Given the description of an element on the screen output the (x, y) to click on. 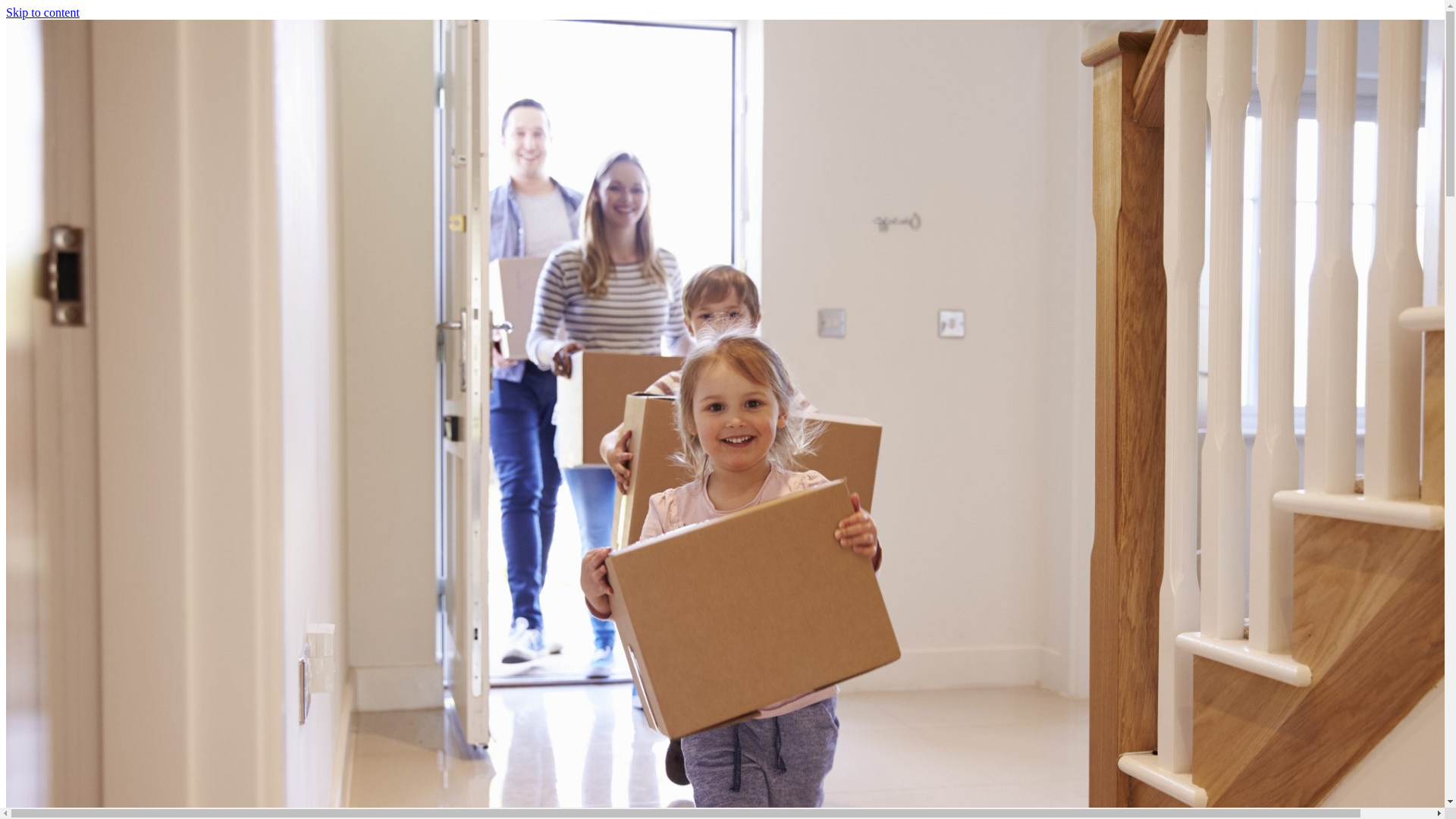
Skip to content Element type: text (42, 12)
